Given the description of an element on the screen output the (x, y) to click on. 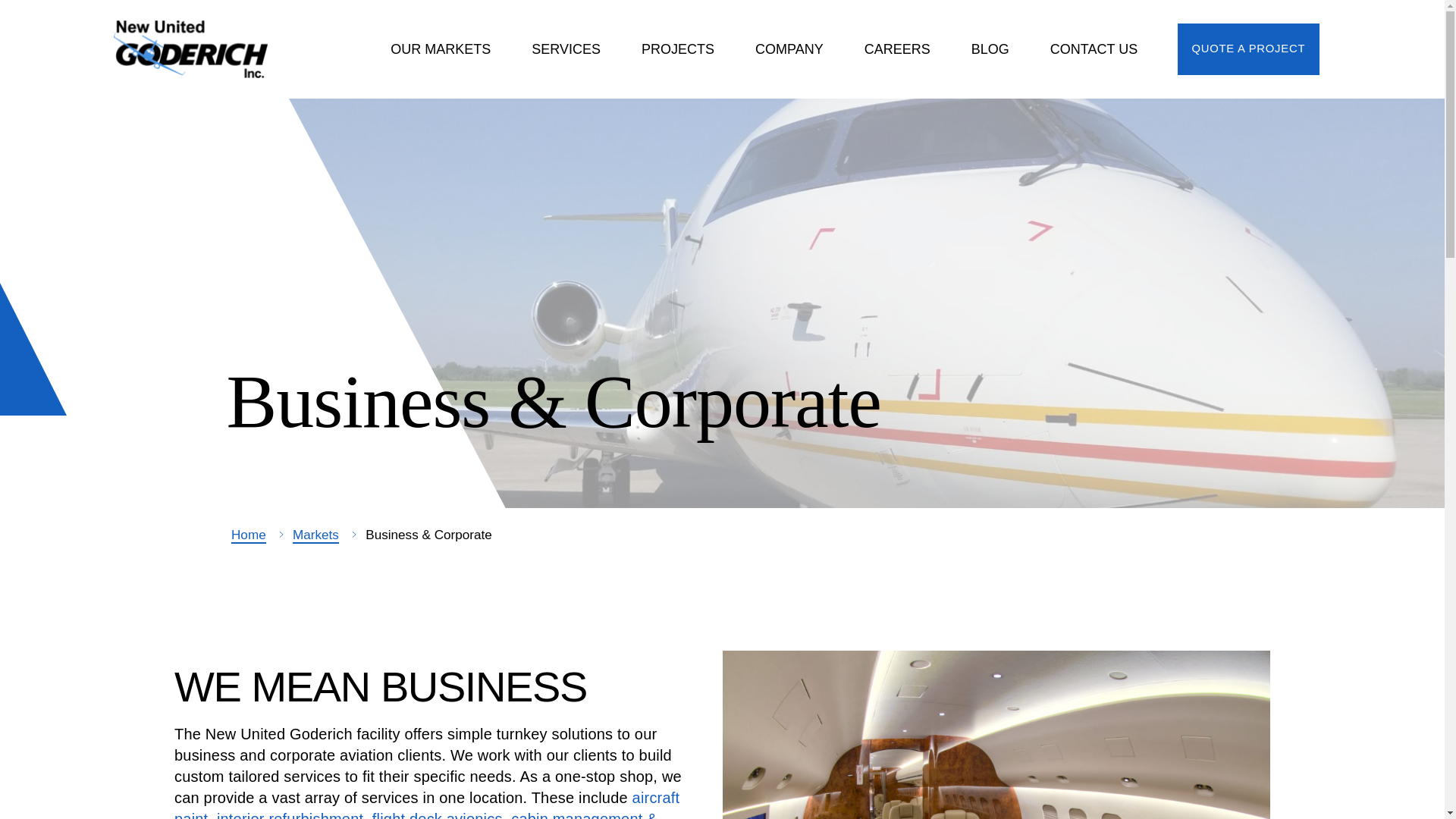
Home (196, 49)
SERVICES (566, 49)
PROJECTS (678, 49)
Skip to content (14, 14)
CAREERS (897, 49)
OUR MARKETS (440, 49)
COMPANY (789, 49)
QUOTE A PROJECT (1248, 49)
